Given the description of an element on the screen output the (x, y) to click on. 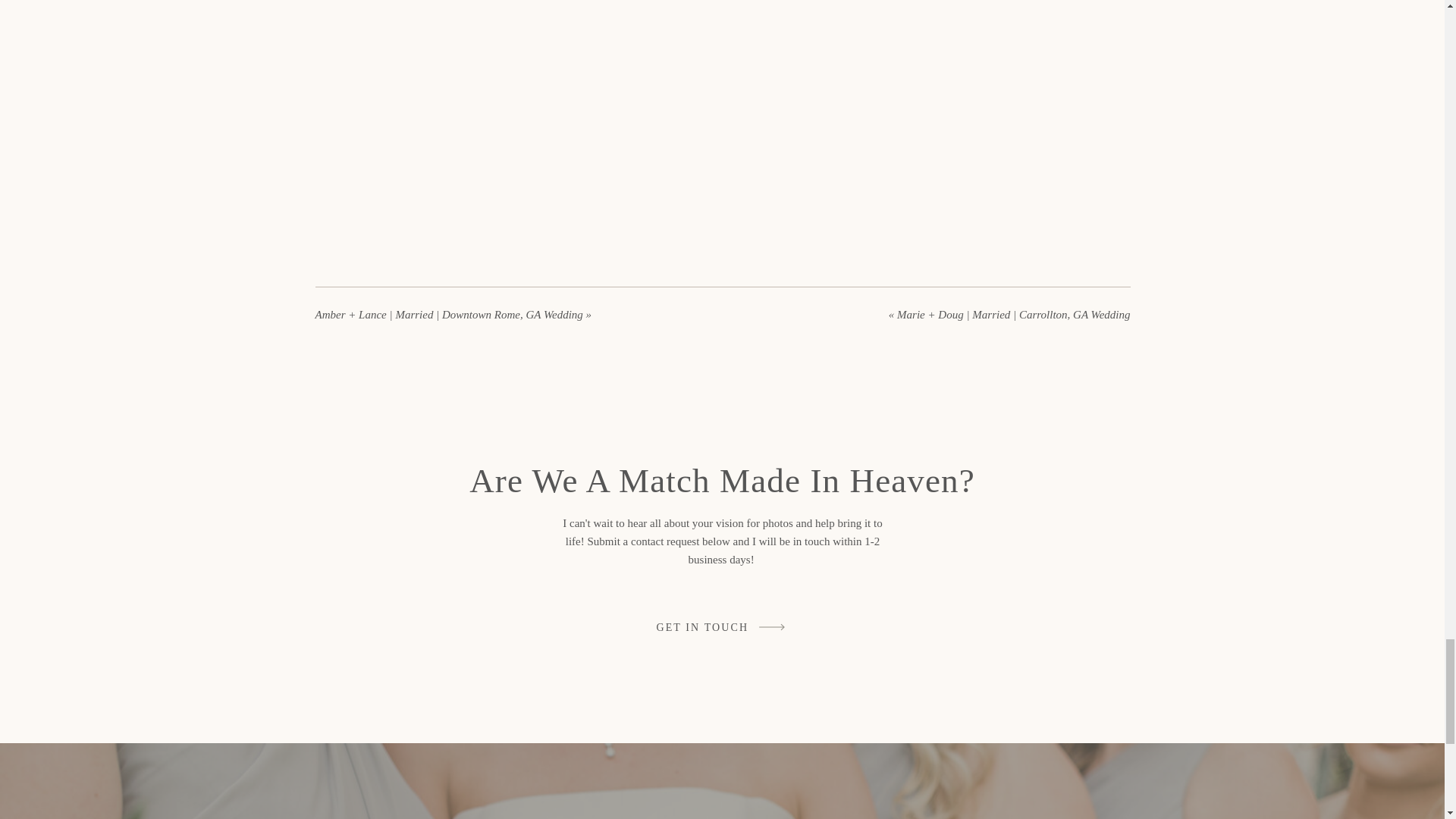
GET IN TOUCH (703, 627)
